Given the description of an element on the screen output the (x, y) to click on. 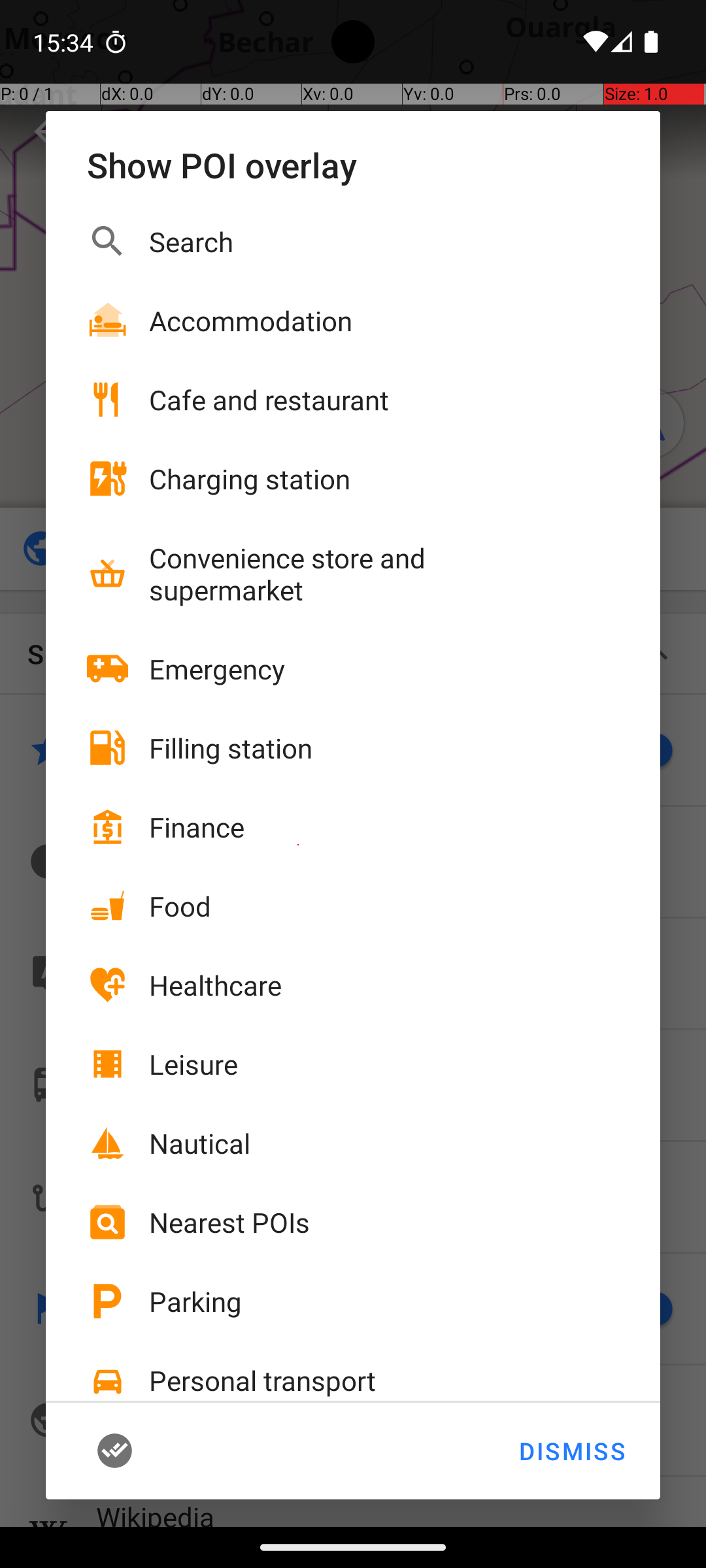
Show POI overlay Element type: android.widget.TextView (352, 164)
  Element type: android.widget.Button (135, 1450)
DISMISS Element type: android.widget.Button (571, 1450)
Accommodation Element type: android.widget.TextView (250, 320)
Cafe and restaurant Element type: android.widget.TextView (269, 399)
Charging station Element type: android.widget.TextView (249, 478)
Convenience store and supermarket Element type: android.widget.TextView (359, 573)
Emergency Element type: android.widget.TextView (217, 668)
Filling station Element type: android.widget.TextView (230, 747)
Healthcare Element type: android.widget.TextView (215, 984)
Leisure Element type: android.widget.TextView (193, 1063)
Nautical Element type: android.widget.TextView (199, 1142)
Nearest POIs Element type: android.widget.TextView (229, 1221)
Parking Element type: android.widget.TextView (195, 1300)
Personal transport Element type: android.widget.TextView (262, 1379)
